Given the description of an element on the screen output the (x, y) to click on. 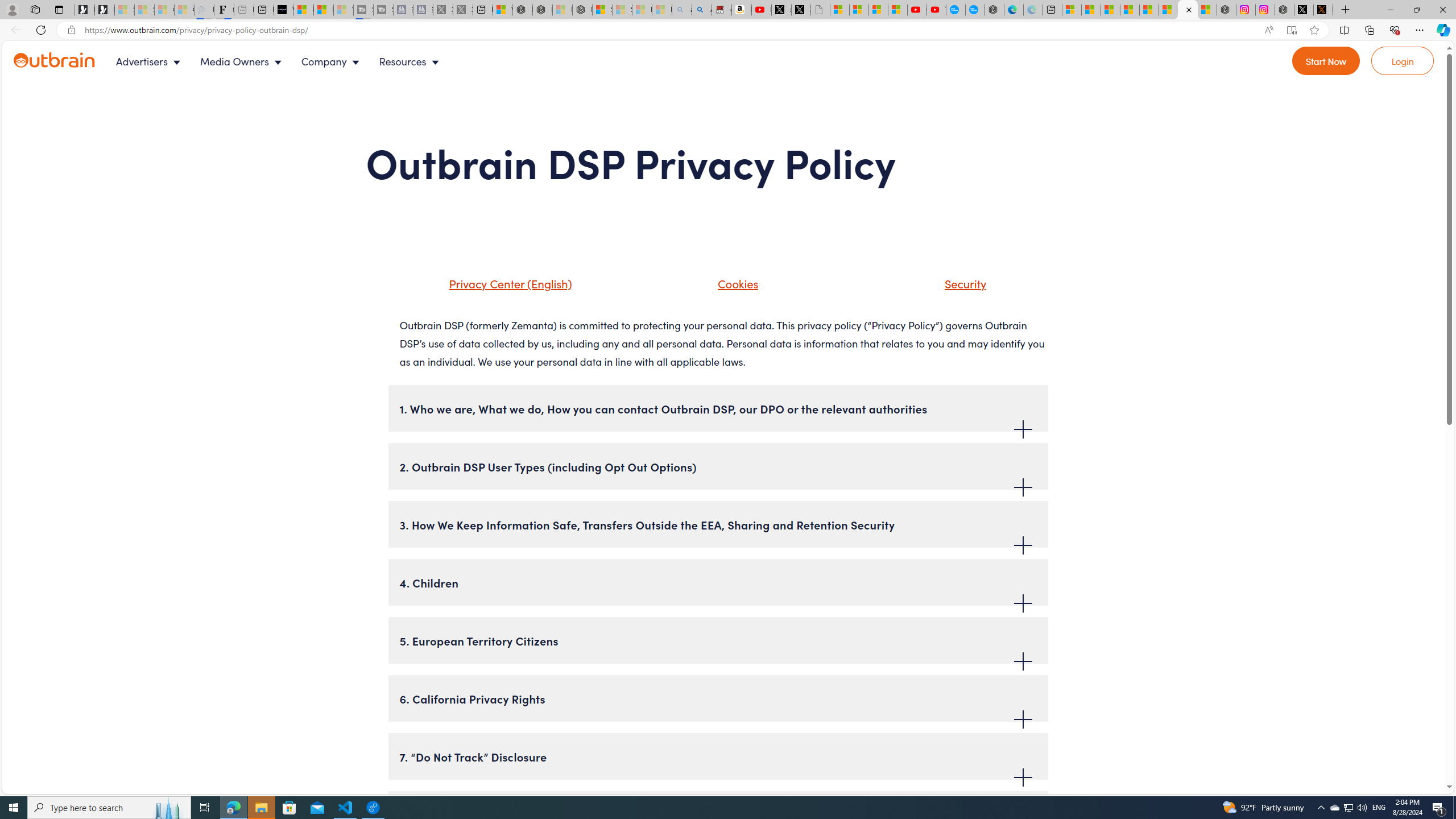
Cookies (723, 287)
Resources (411, 61)
Privacy Center (English) (507, 282)
Main Navigation (287, 61)
Nordace (@NordaceOfficial) / X (1303, 9)
